Given the description of an element on the screen output the (x, y) to click on. 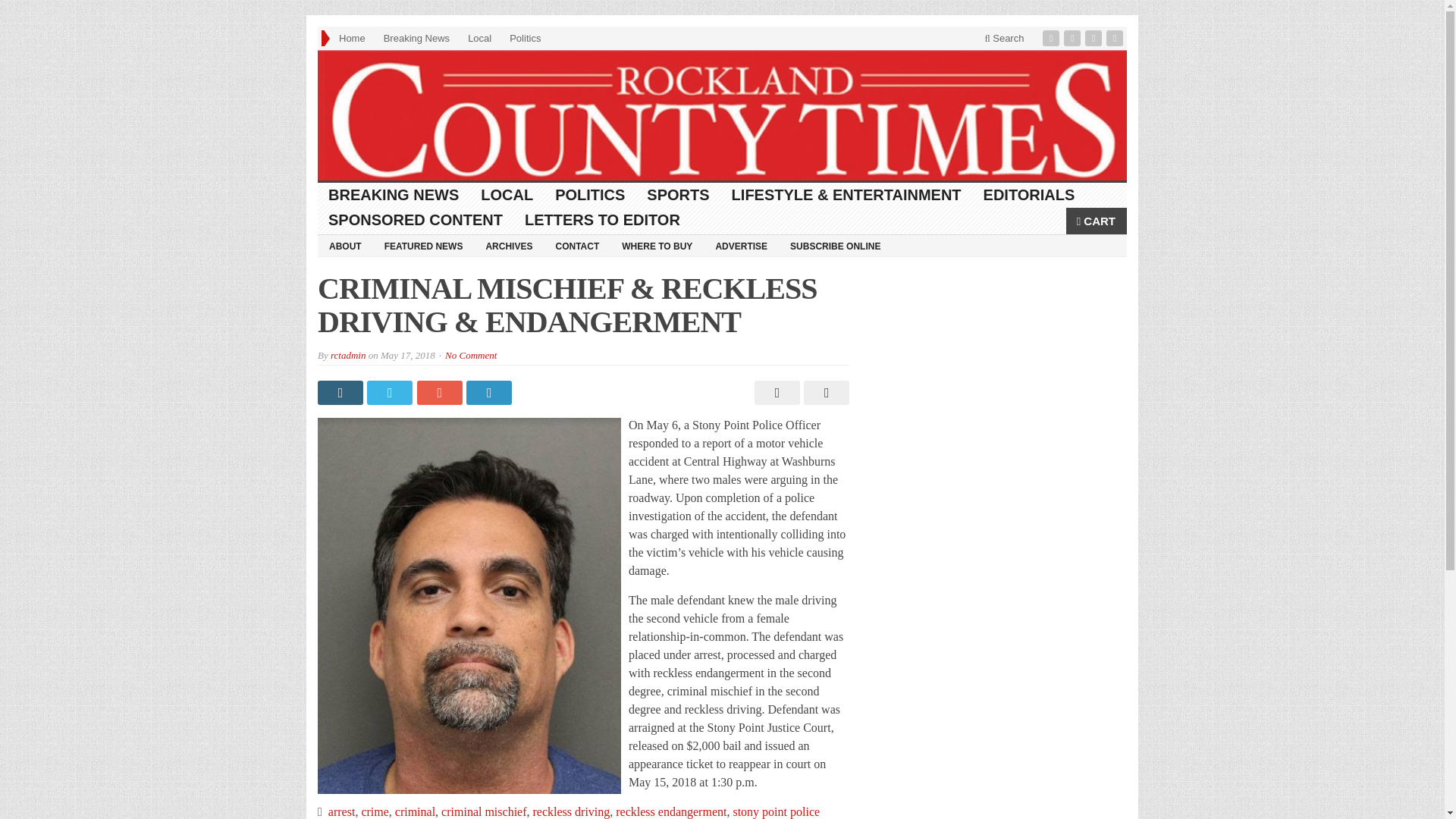
ARCHIVES (508, 245)
ADVERTISE (740, 245)
SPORTS (678, 195)
CONTACT (576, 245)
LETTERS TO EDITOR (602, 220)
Breaking News (416, 37)
Search (1003, 37)
BREAKING NEWS (393, 195)
SPONSORED CONTENT (415, 220)
CART (1095, 221)
SUBSCRIBE ONLINE (834, 245)
EDITORIALS (1029, 195)
FEATURED NEWS (423, 245)
Politics (525, 37)
ABOUT (344, 245)
